Given the description of an element on the screen output the (x, y) to click on. 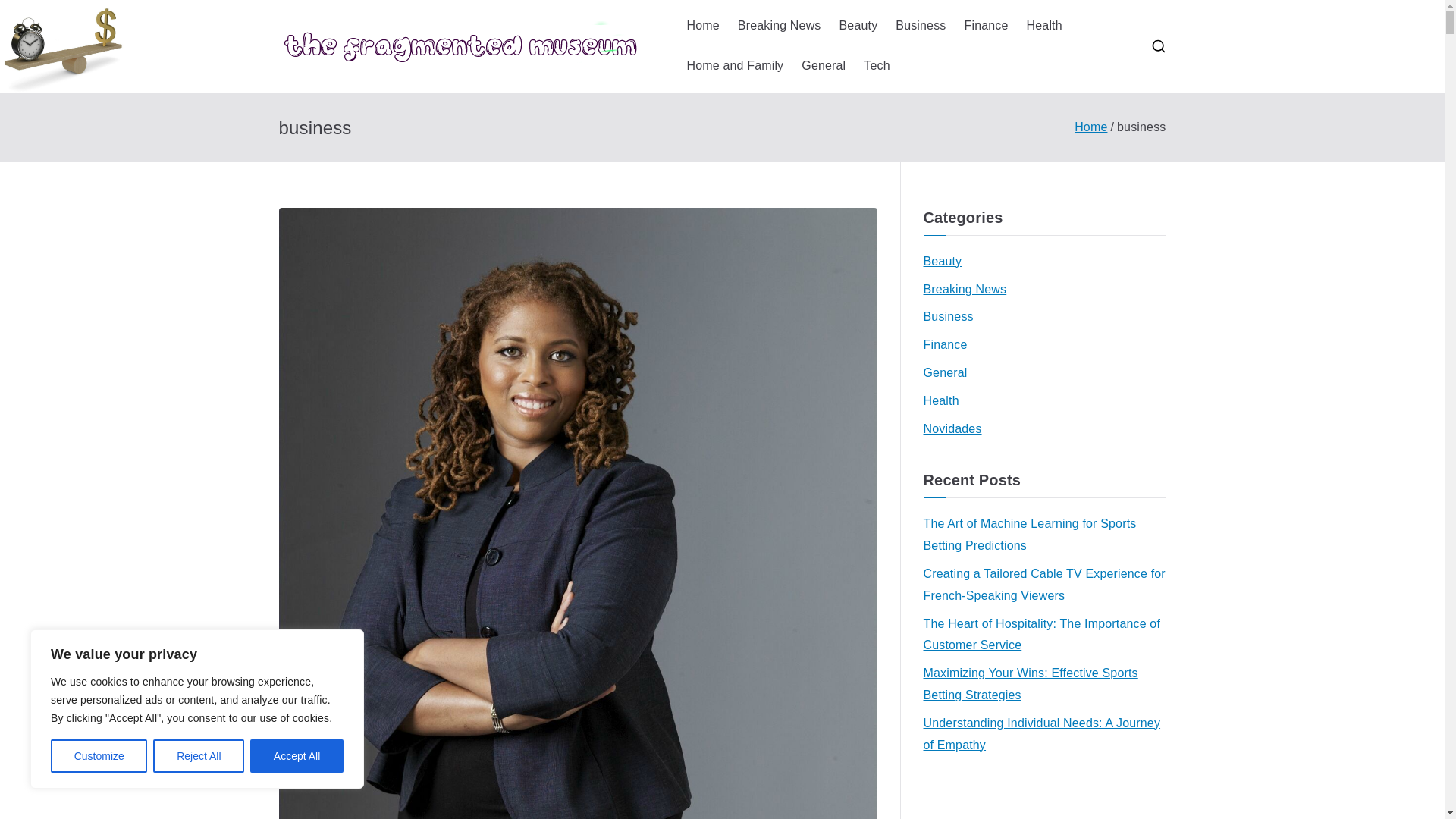
Beauty (858, 25)
thefragmentedmuseum (825, 65)
Finance (986, 25)
Business (919, 25)
Home and Family (735, 65)
Tech (876, 65)
Breaking News (779, 25)
Reject All (198, 756)
Customize (98, 756)
Health (1044, 25)
Home (703, 25)
Home (1090, 126)
General (823, 65)
Accept All (296, 756)
